Given the description of an element on the screen output the (x, y) to click on. 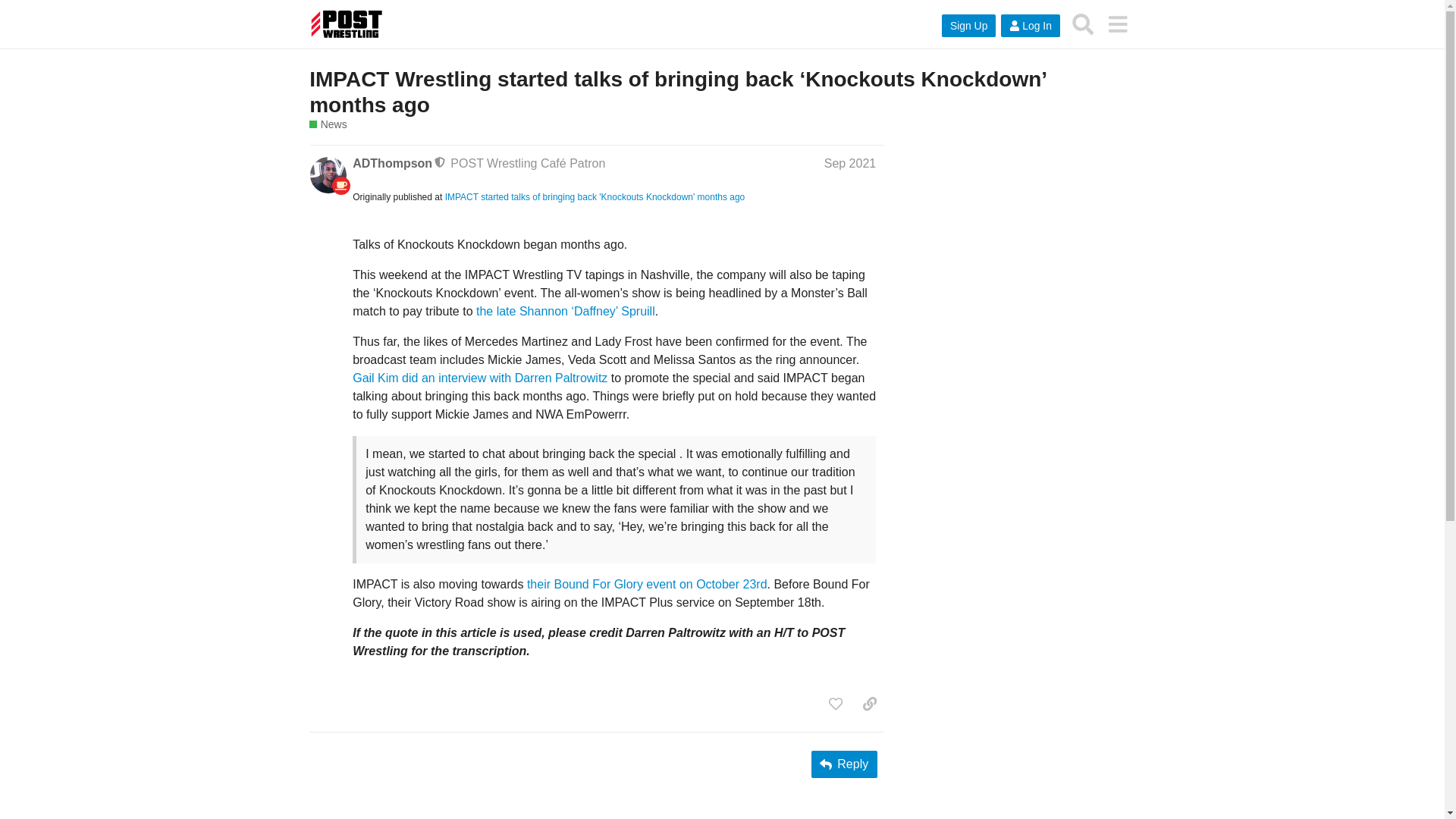
ADThompson (392, 162)
News (327, 124)
Log In (1030, 25)
like this post (835, 703)
Sign Up (968, 25)
Sep 2021 (850, 162)
copy a link to this post to clipboard (869, 703)
their Bound For Glory event on October 23rd (647, 584)
Search (1082, 23)
Patrons (340, 185)
menu (1117, 23)
Gail Kim did an interview with Darren Paltrowitz (479, 377)
Reply (843, 764)
